Given the description of an element on the screen output the (x, y) to click on. 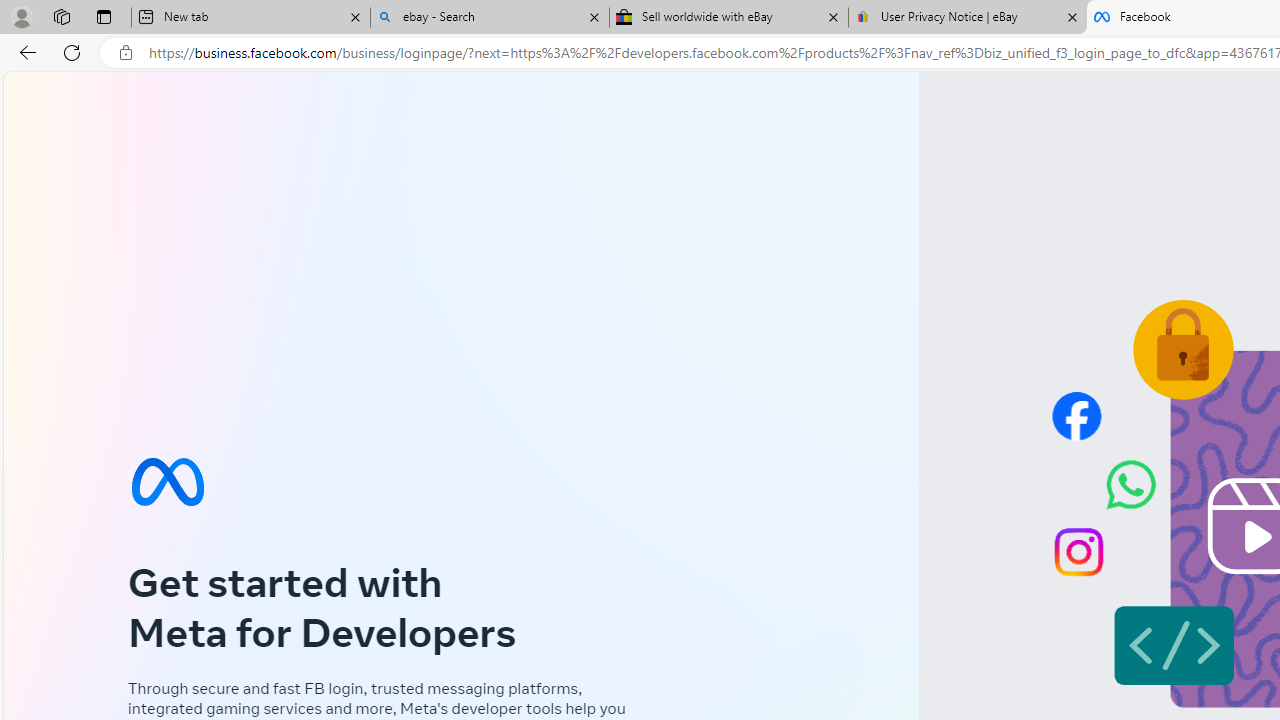
Sell worldwide with eBay (729, 17)
User Privacy Notice | eBay (967, 17)
Meta symbol (167, 481)
